Given the description of an element on the screen output the (x, y) to click on. 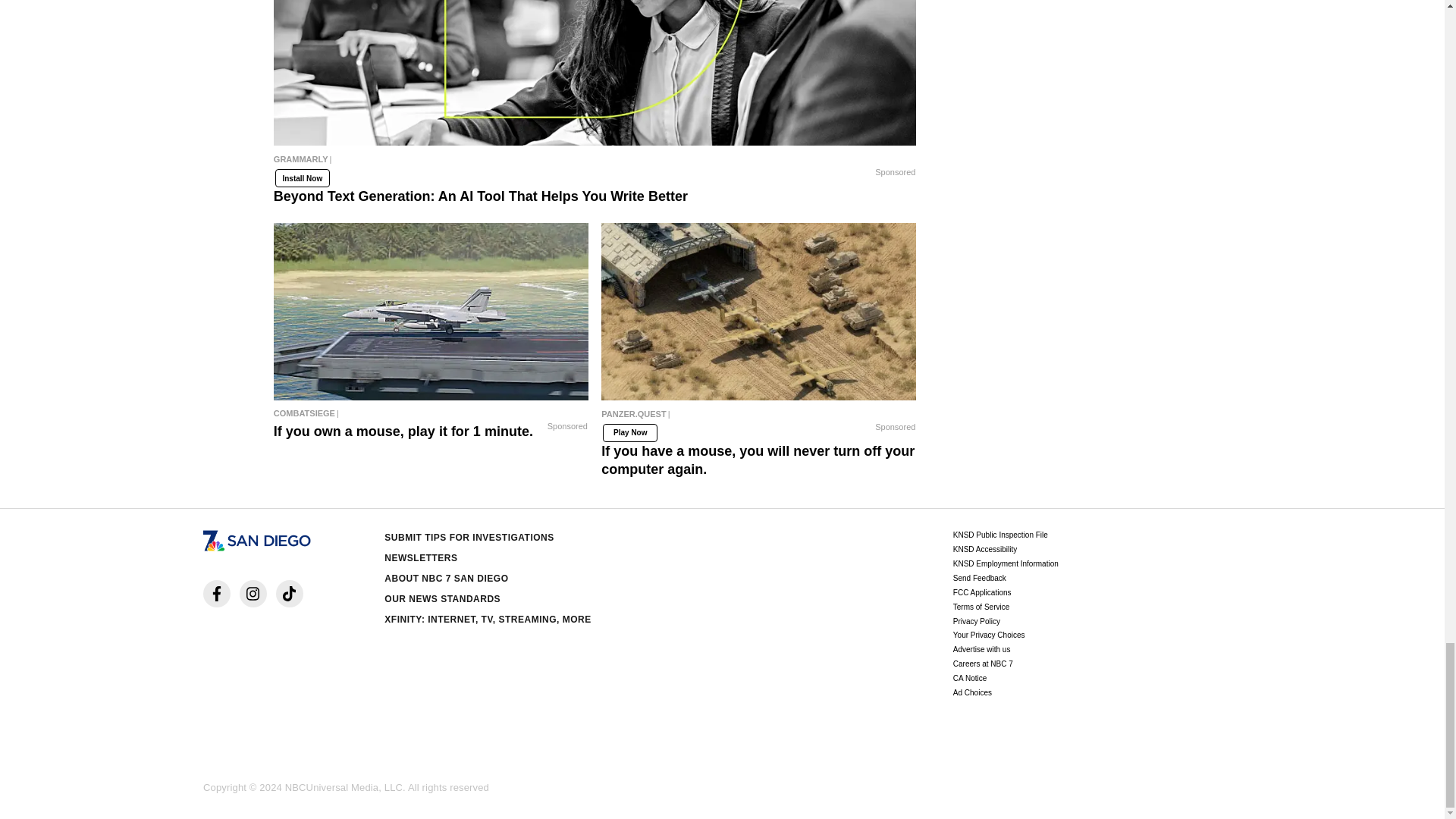
If you own a mouse, play it for 1 minute. (430, 413)
